Given the description of an element on the screen output the (x, y) to click on. 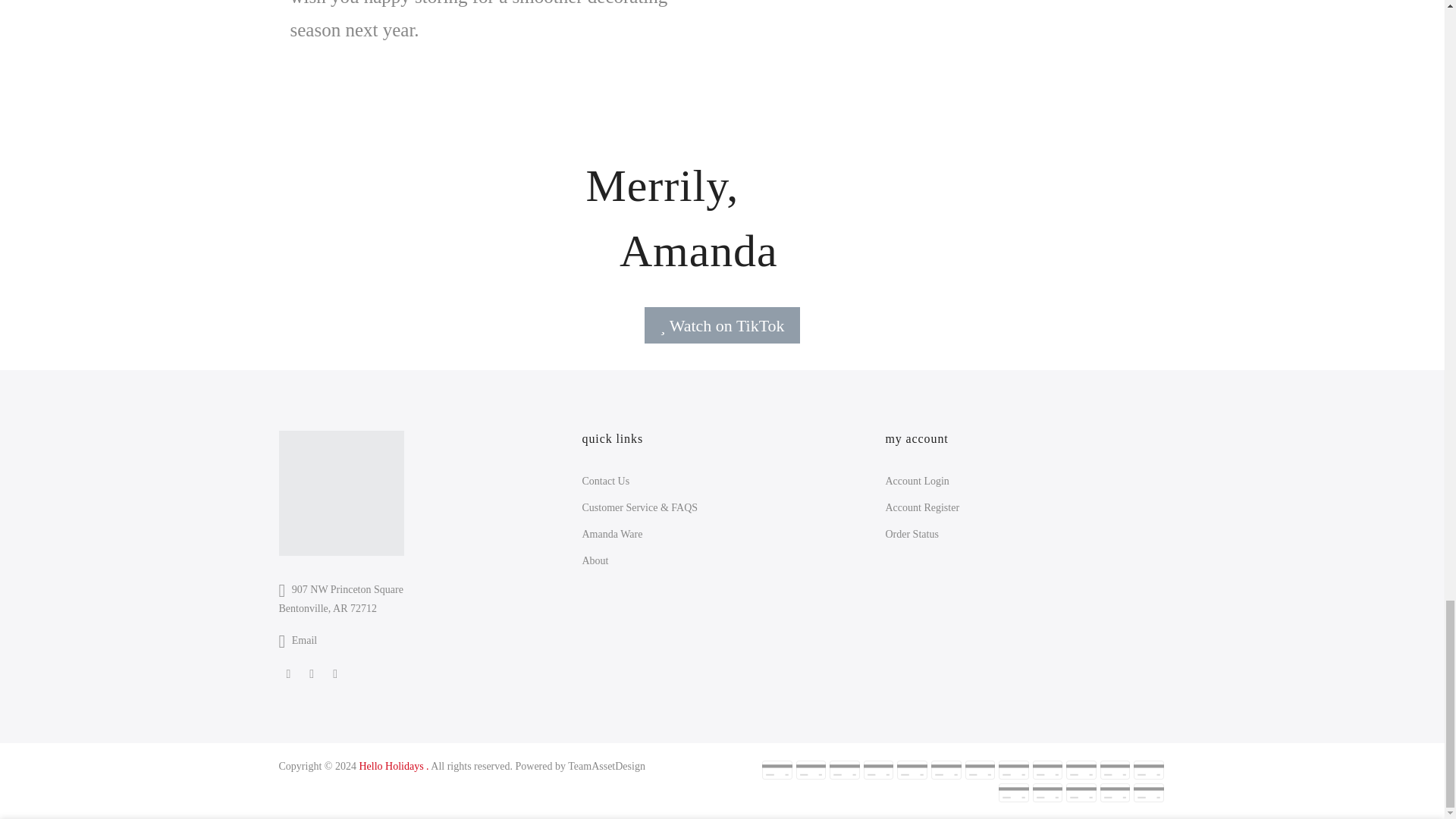
About (594, 560)
Amanda Ware (611, 533)
Email (304, 640)
Watch on TikTok (722, 325)
Account Login (917, 480)
Contact Us (604, 480)
